Given the description of an element on the screen output the (x, y) to click on. 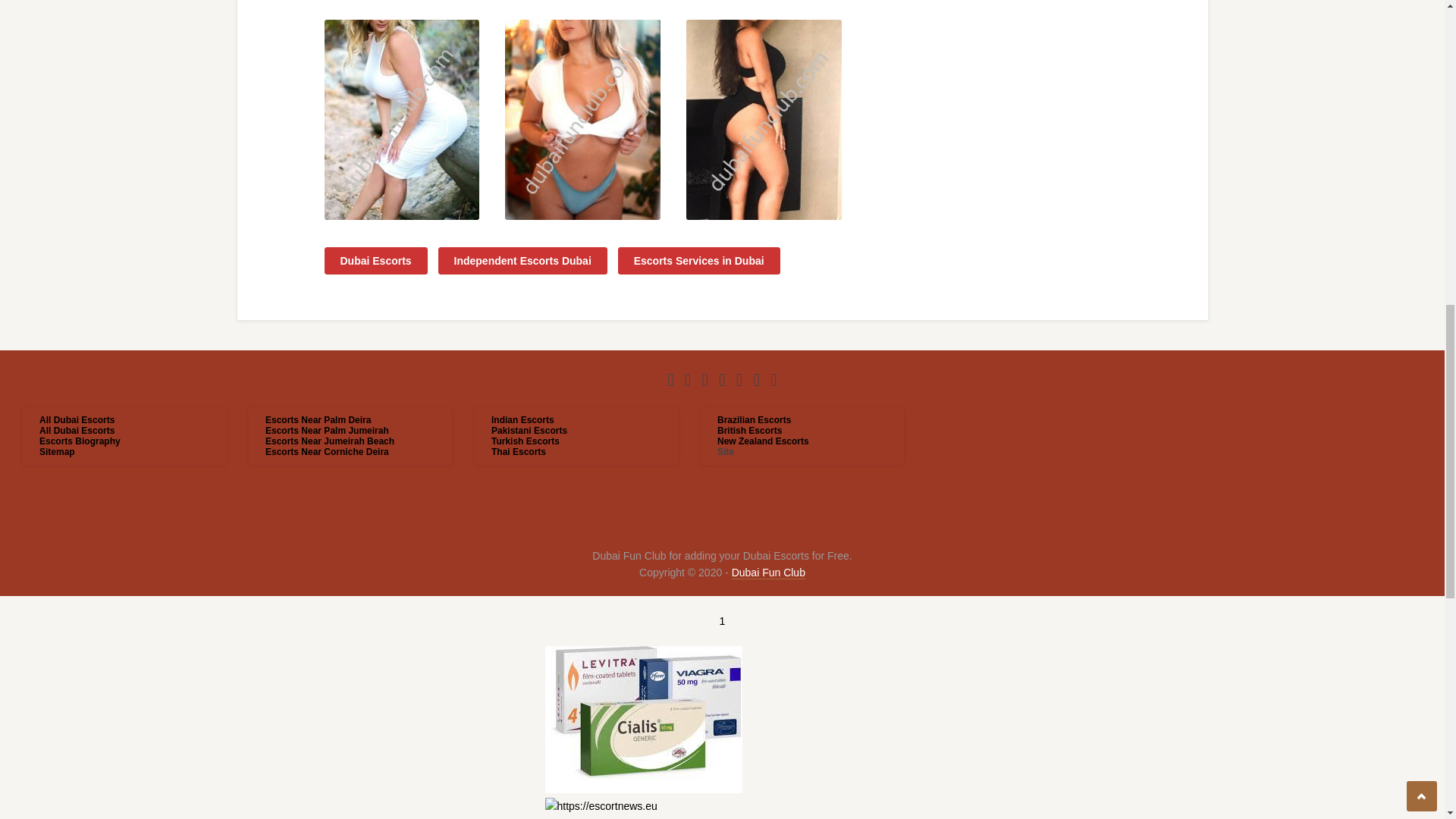
Escorts Near Palm Jumeirah (326, 430)
Escorts Biography (79, 440)
All Dubai Escorts (77, 419)
Escorts Services in Dubai (698, 260)
Escorts Near Jumeirah Beach (329, 440)
Dubai Fun Club (768, 572)
Escorts Near Palm Deira (317, 419)
Independent Escorts Dubai (522, 260)
Dubai Escorts (376, 260)
New Zealand Escorts (763, 440)
Turkish Escorts (525, 440)
Indian Escorts (523, 419)
Brazilian Escorts (753, 419)
British Escorts (749, 430)
All Dubai Escorts (77, 430)
